Given the description of an element on the screen output the (x, y) to click on. 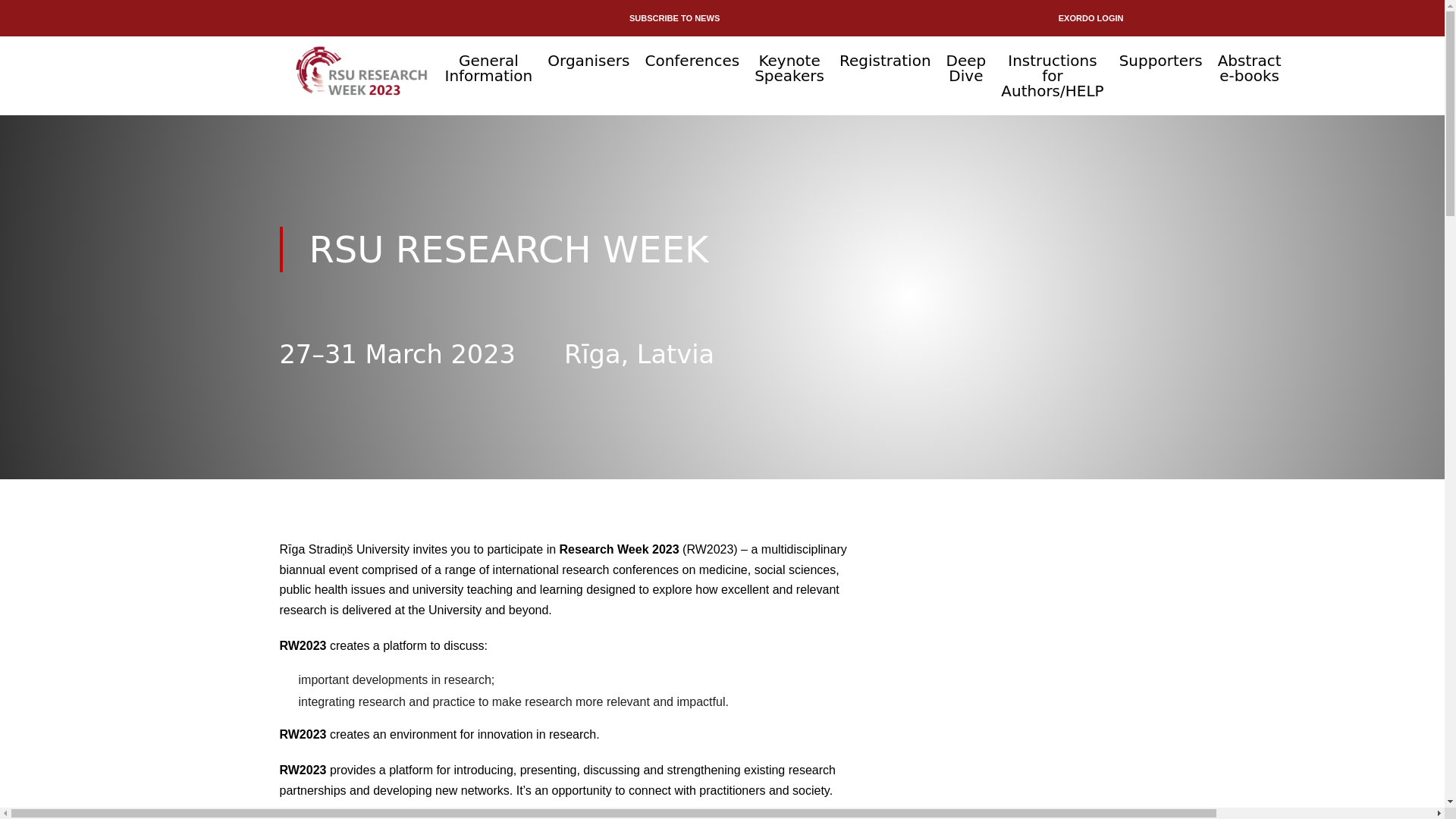
Registration (885, 60)
Search (1105, 54)
Deep Dive (966, 68)
Keynote Speakers (789, 68)
SUBSCRIBE TO NEWS (673, 17)
Supporters (1160, 60)
General Information (488, 68)
Conferences (692, 60)
EXORDO LOGIN (1091, 17)
Organisers (587, 60)
Home (361, 79)
Abstract e-books (1249, 68)
